Given the description of an element on the screen output the (x, y) to click on. 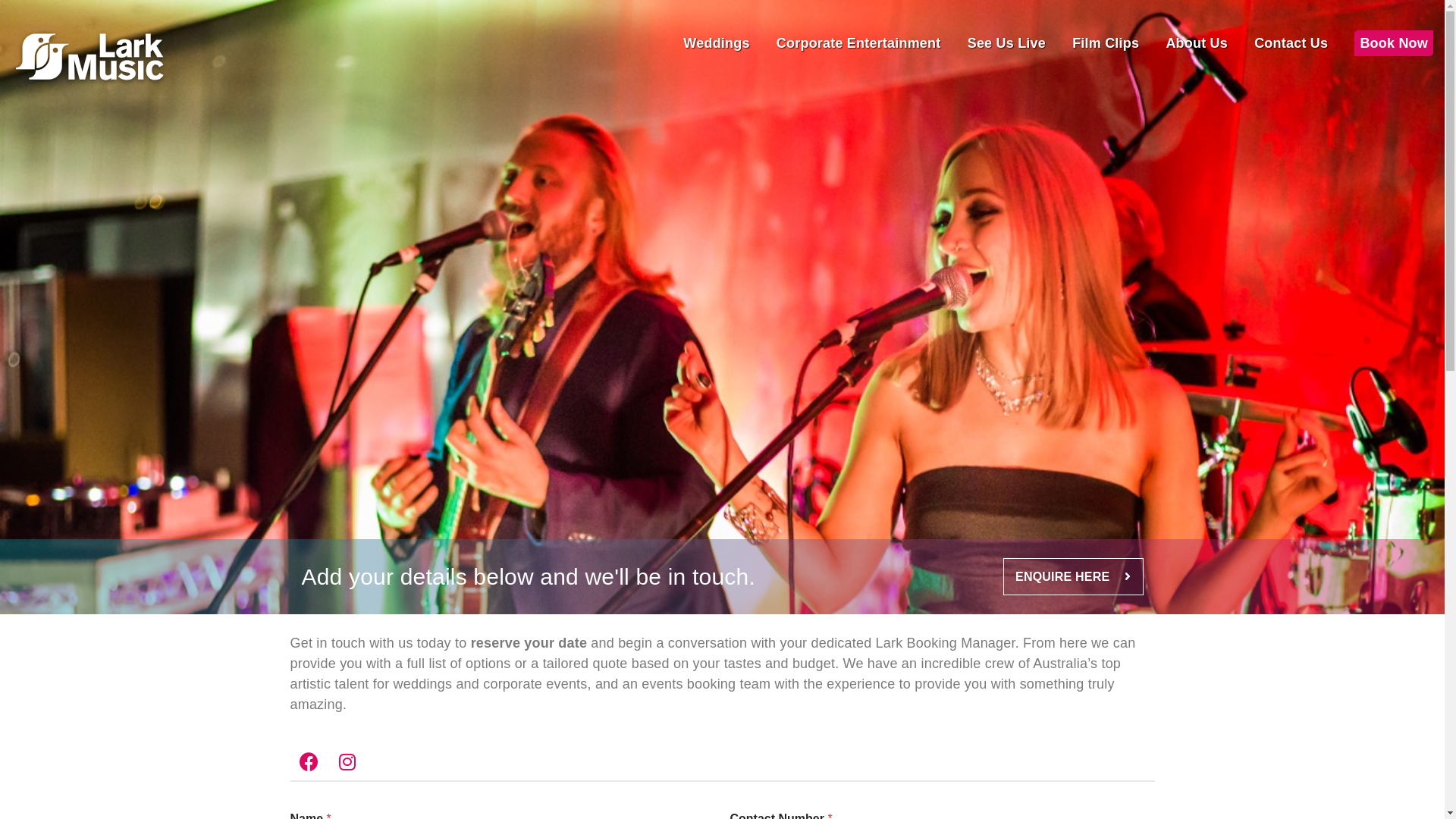
See Us Live Element type: text (1006, 42)
Weddings Element type: text (716, 42)
About Us Element type: text (1196, 42)
Contact Us Element type: text (1290, 42)
Film Clips Element type: text (1105, 42)
Book Now Element type: text (1393, 42)
Lark Music Element type: hover (89, 58)
Corporate Entertainment Element type: text (858, 42)
ENQUIRE HERE Element type: text (1072, 576)
